Given the description of an element on the screen output the (x, y) to click on. 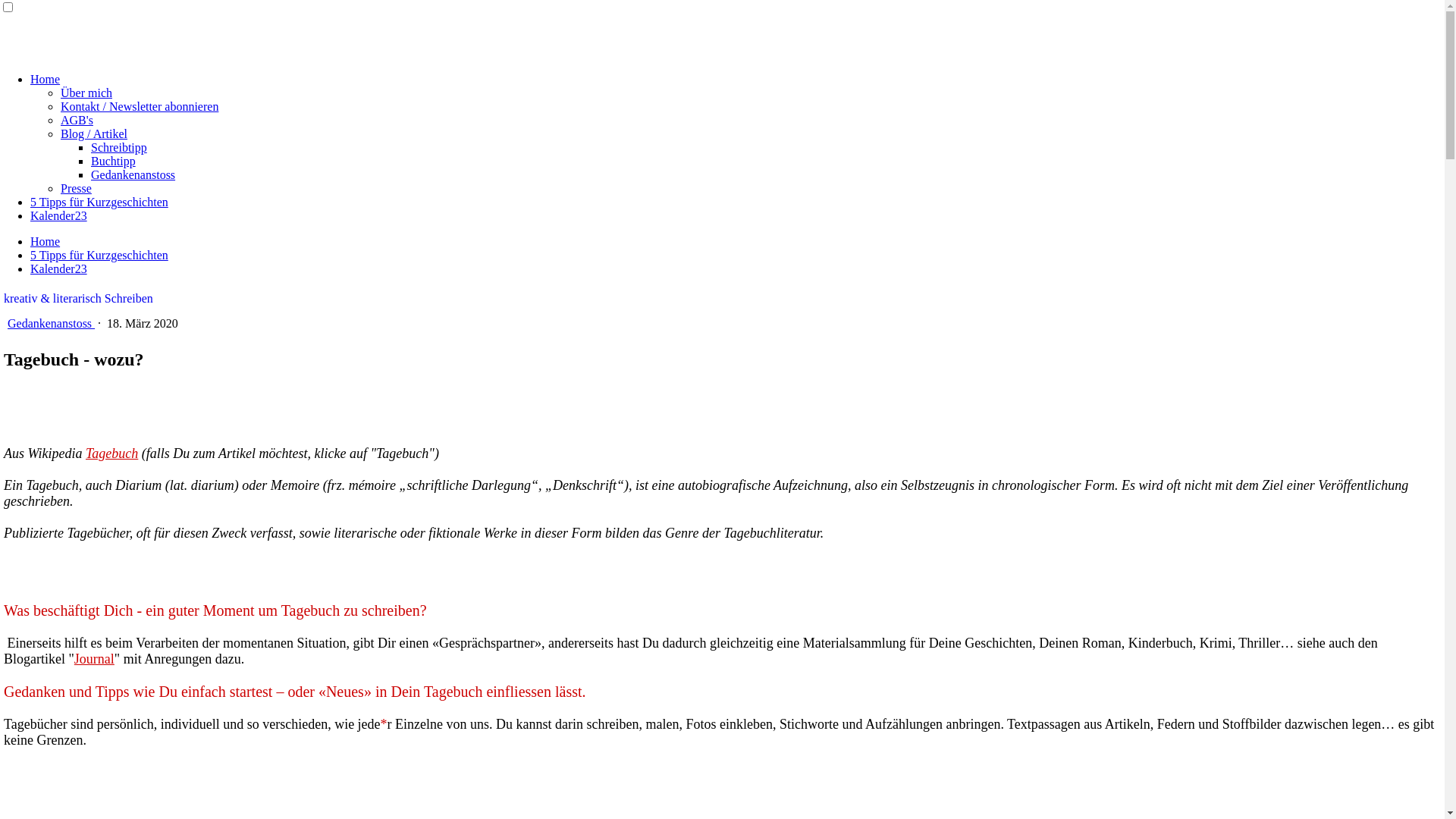
Gedankenanstoss Element type: text (133, 174)
Schreibtipp Element type: text (119, 147)
Kalender23 Element type: text (58, 268)
Gedankenanstoss Element type: text (50, 322)
Presse Element type: text (75, 188)
AGB's Element type: text (76, 119)
Home Element type: text (44, 241)
Kontakt / Newsletter abonnieren Element type: text (139, 106)
Home Element type: text (44, 78)
kreativ & literarisch Schreiben Element type: text (78, 297)
Blog / Artikel Element type: text (93, 133)
Kalender23 Element type: text (58, 215)
Tagebuch Element type: text (111, 453)
Buchtipp Element type: text (113, 160)
Journal Element type: text (94, 658)
